Given the description of an element on the screen output the (x, y) to click on. 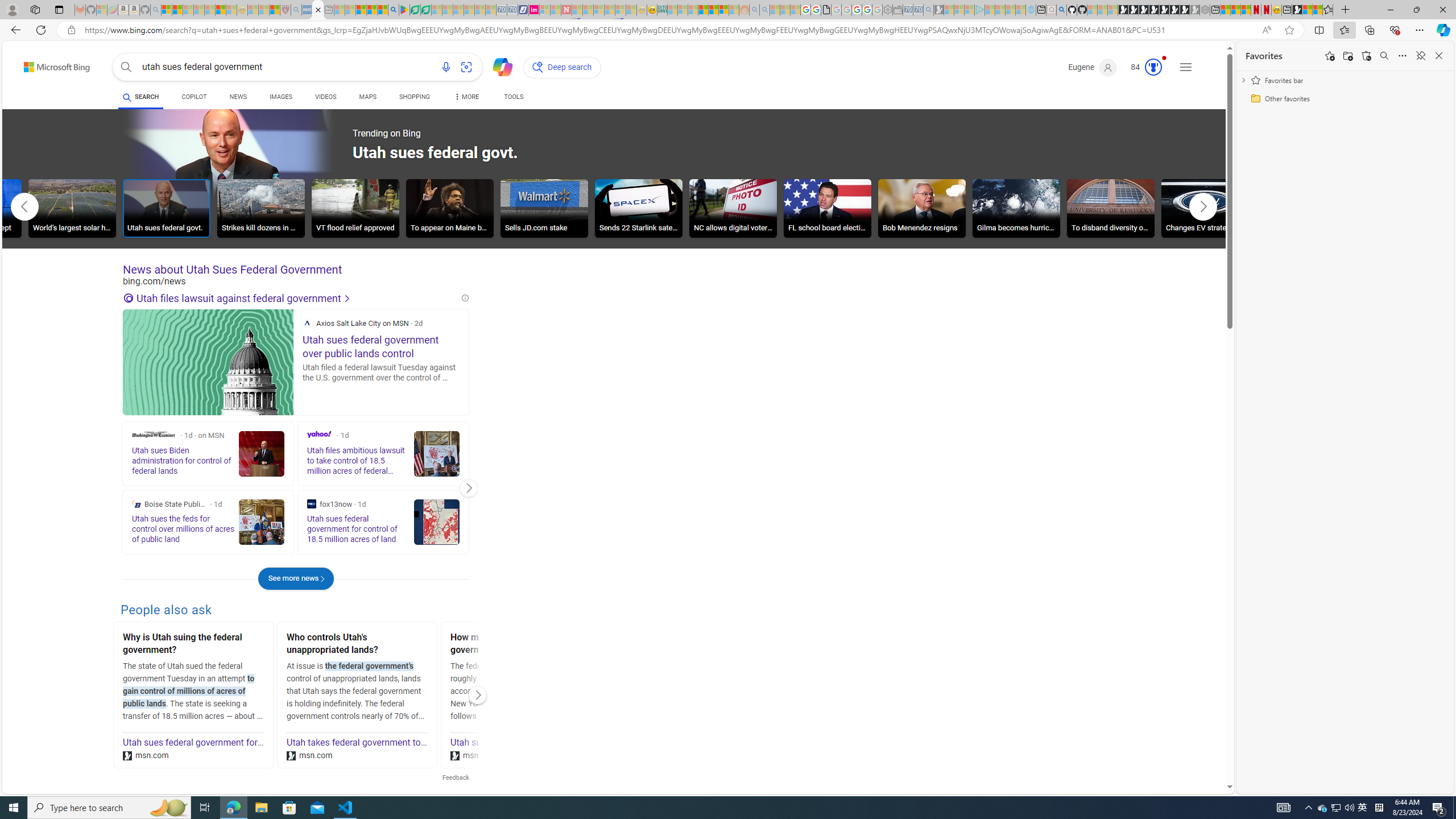
FL school board elections (826, 207)
To disband diversity office (1110, 207)
Add this page to favorites (1330, 55)
Search using an image (465, 66)
Pets - MSN (371, 9)
github - Search (1061, 9)
